Given the description of an element on the screen output the (x, y) to click on. 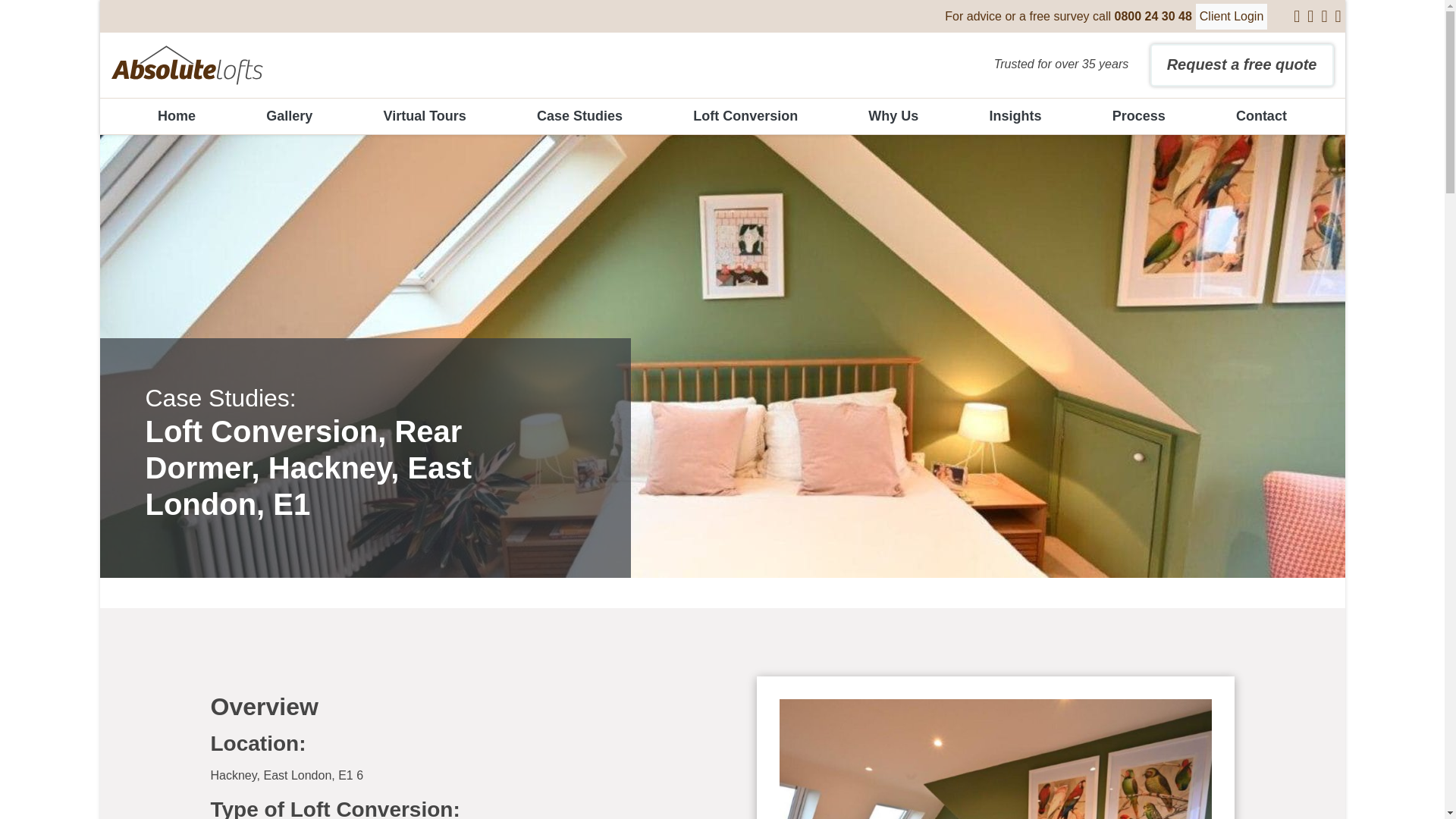
Home (176, 116)
Request a free quote (1241, 65)
Gallery (288, 116)
Contact (1261, 116)
Process (1138, 116)
Why Us (893, 116)
For advice or a free survey call 0800 24 30 48 (1067, 15)
Client Login (1231, 15)
Loft Conversion (745, 116)
Insights (1015, 116)
Virtual Tours (424, 116)
Case Studies (579, 116)
